Given the description of an element on the screen output the (x, y) to click on. 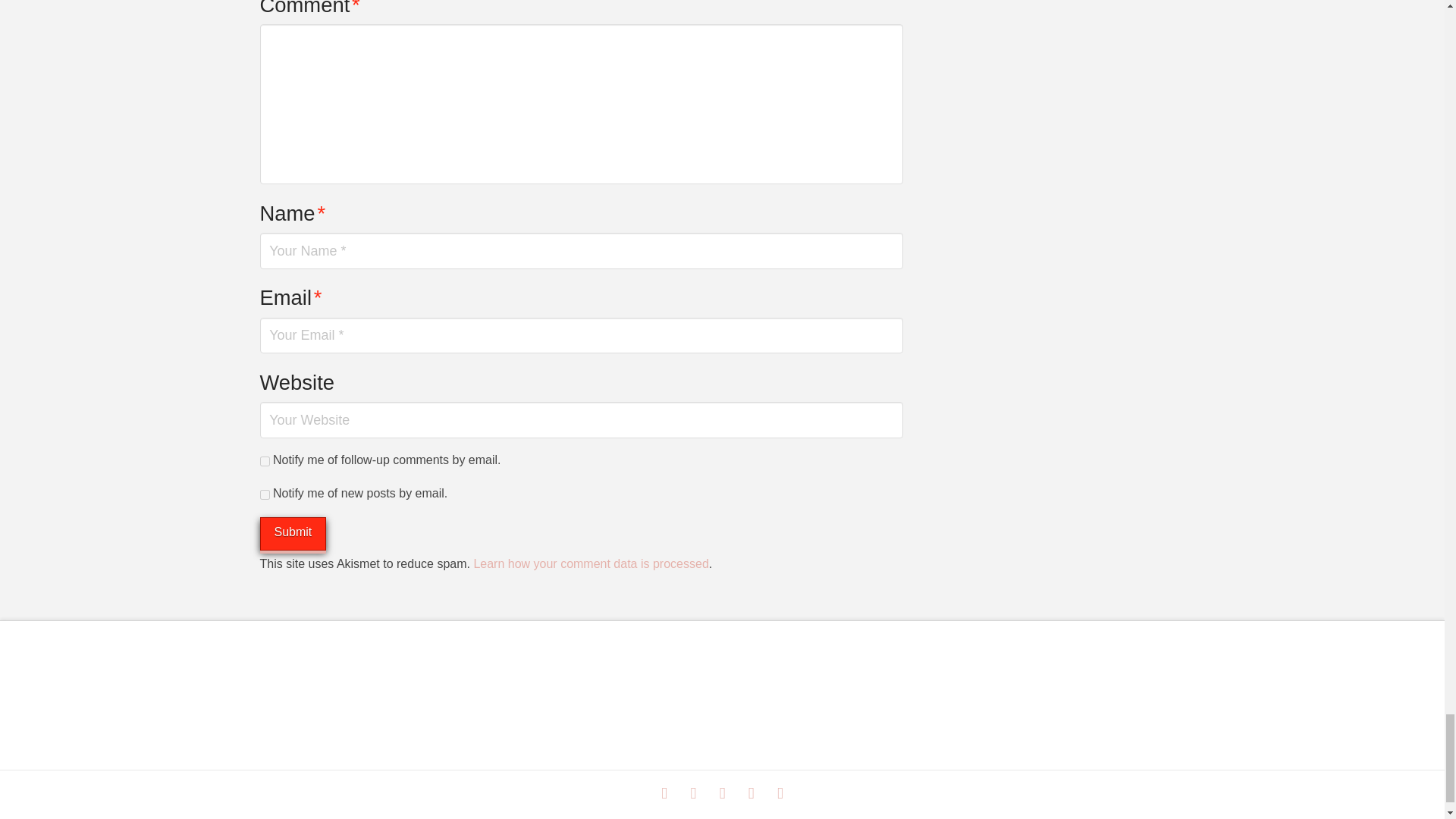
subscribe (264, 494)
subscribe (264, 461)
Submit (292, 533)
